Given the description of an element on the screen output the (x, y) to click on. 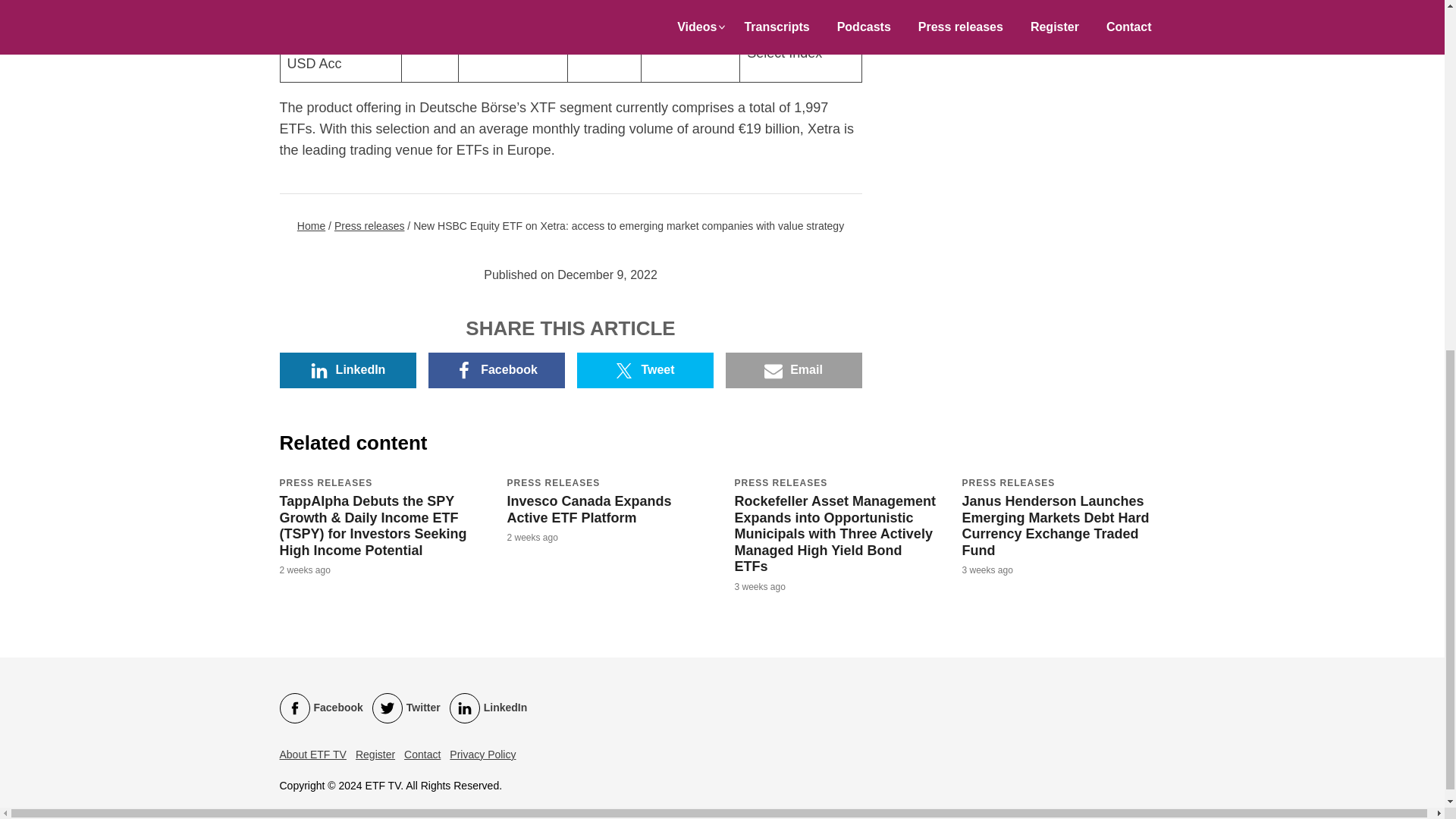
Invesco Canada Expands Active ETF Platform  (588, 509)
Email (793, 370)
Twitter (406, 707)
Facebook (320, 707)
Tweet (644, 370)
PRESS RELEASES (780, 482)
LinkedIn (488, 707)
PRESS RELEASES (1007, 482)
Home (310, 225)
